Given the description of an element on the screen output the (x, y) to click on. 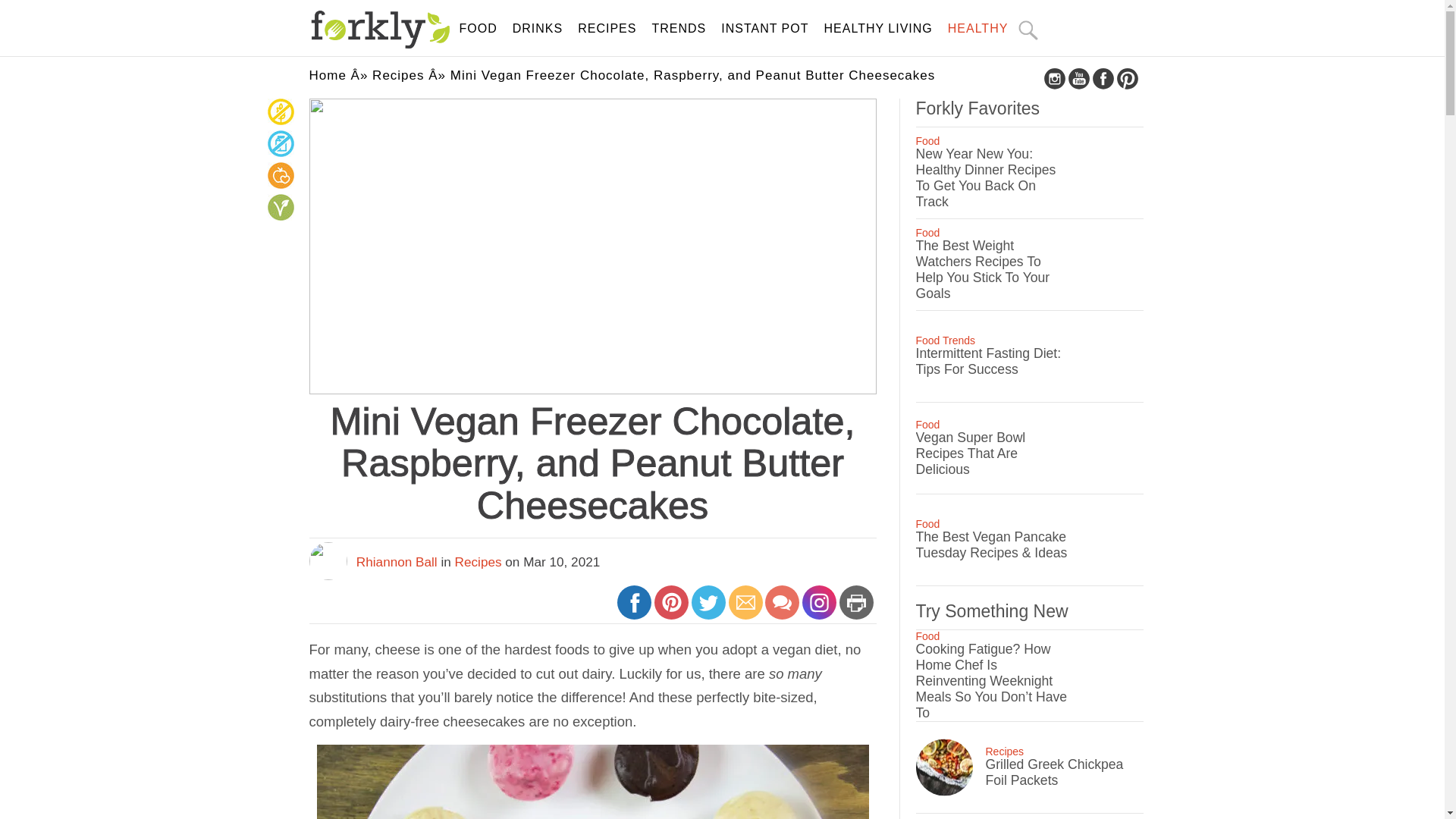
Share by Email (745, 608)
INSTANT POT (764, 28)
Recipes (478, 561)
HEALTHY (978, 28)
Home (327, 74)
TRENDS (678, 28)
FOOD (478, 28)
Vegan (280, 218)
DRINKS (537, 28)
